Given the description of an element on the screen output the (x, y) to click on. 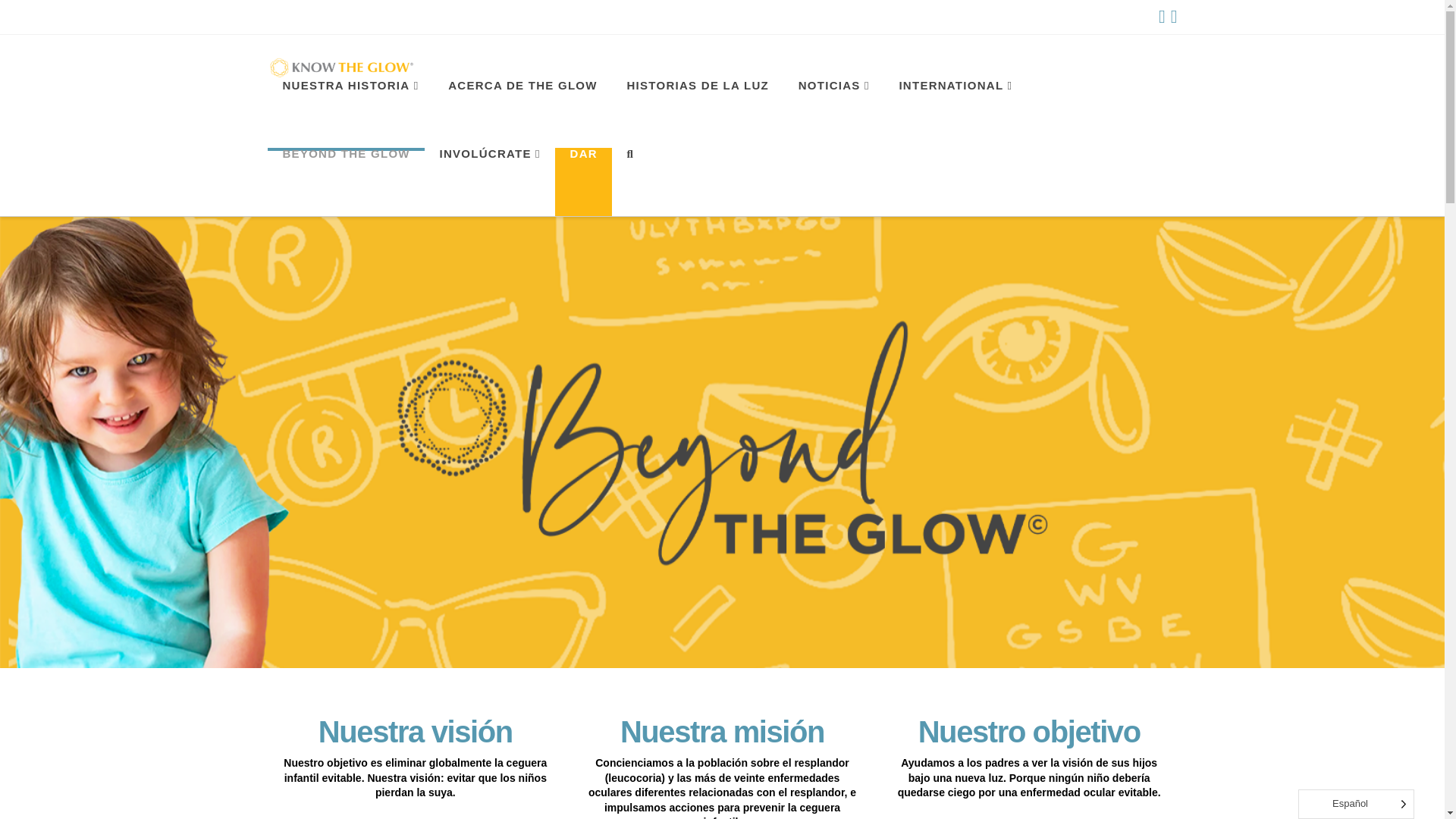
INTERNATIONAL (954, 113)
NOTICIAS (833, 113)
NUESTRA HISTORIA (349, 113)
BEYOND THE GLOW (344, 182)
HISTORIAS DE LA LUZ (697, 113)
ACERCA DE THE GLOW (521, 113)
